Given the description of an element on the screen output the (x, y) to click on. 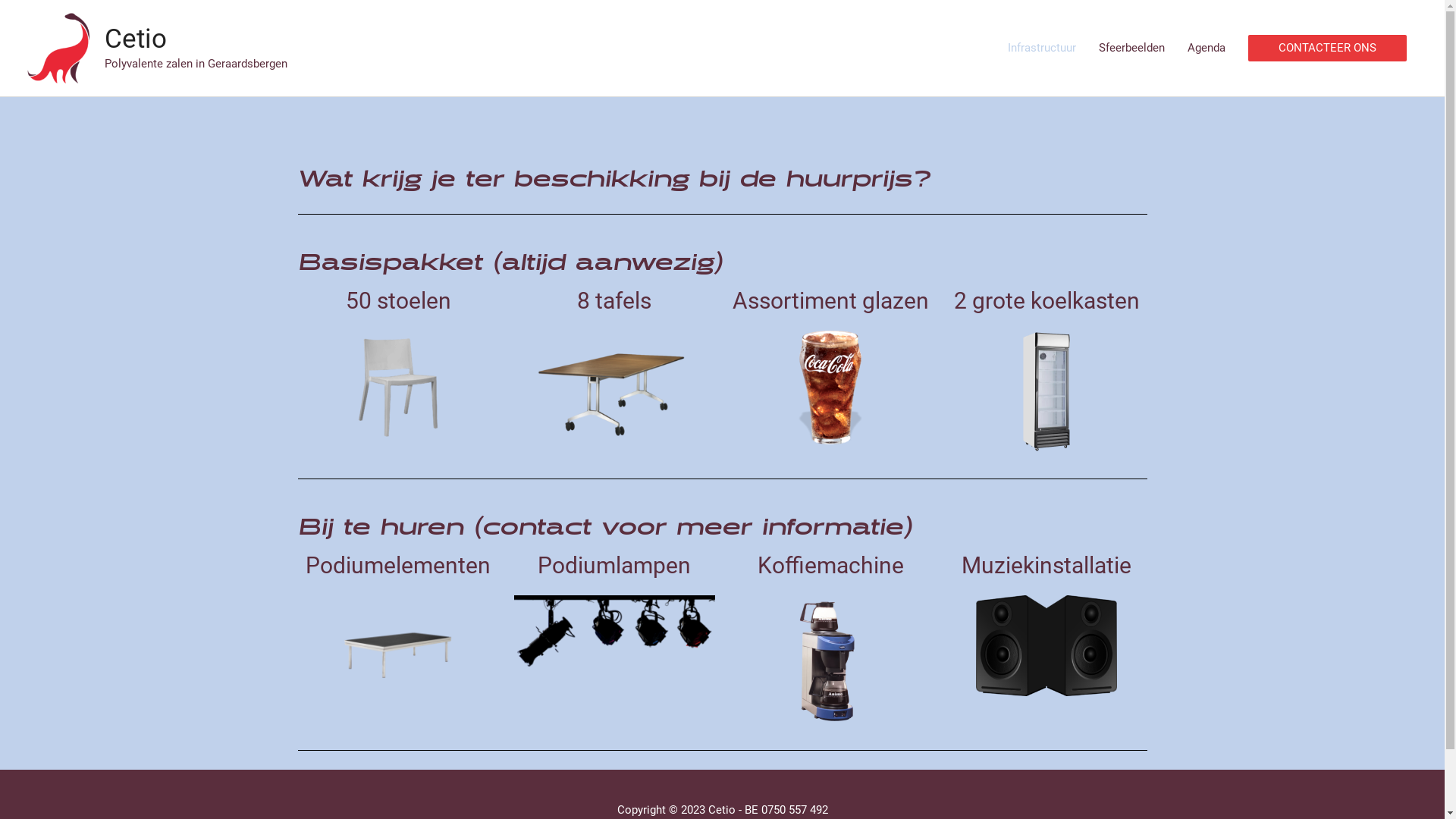
Infrastructuur Element type: text (1041, 48)
Sfeerbeelden Element type: text (1131, 48)
CONTACTEER ONS Element type: text (1327, 47)
Agenda Element type: text (1206, 48)
Cetio Element type: text (135, 38)
